Given the description of an element on the screen output the (x, y) to click on. 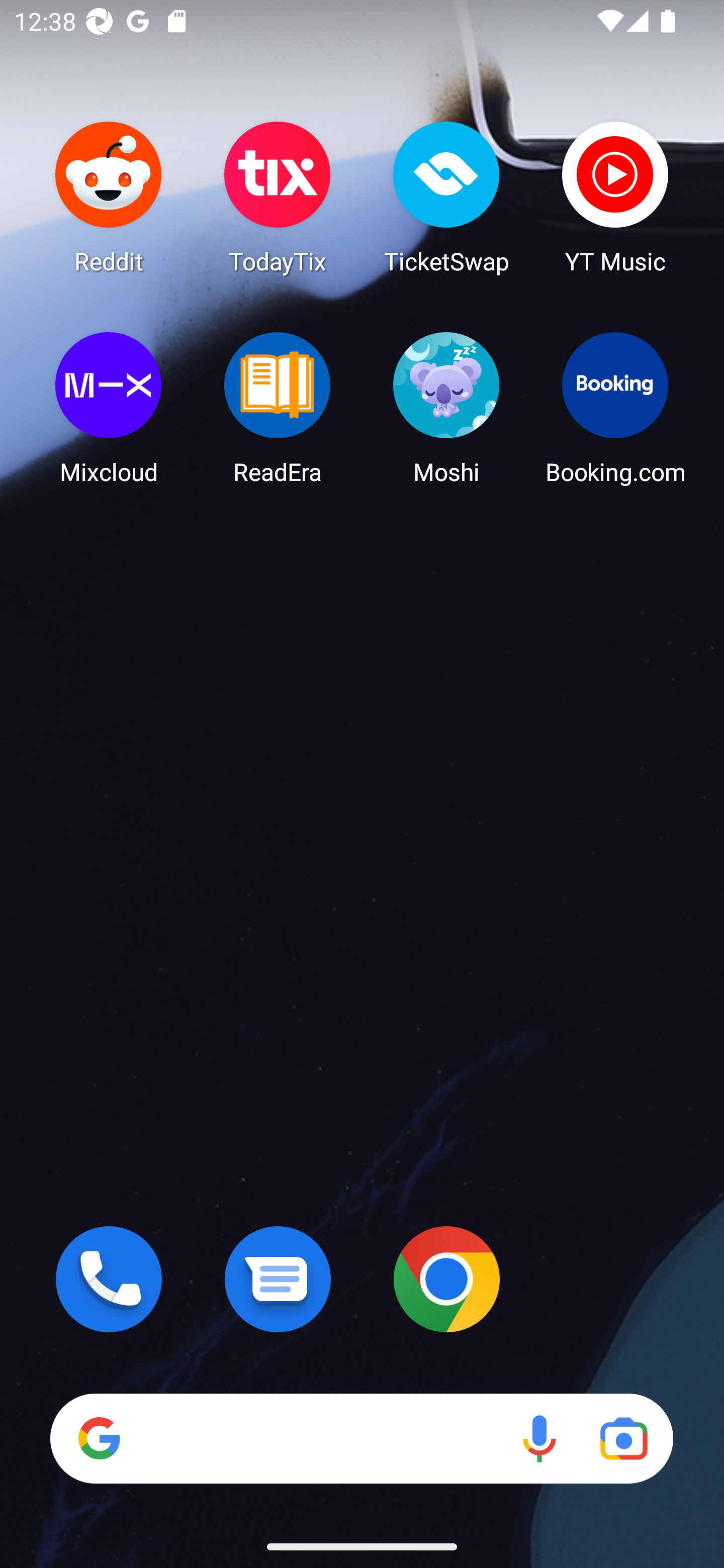
Reddit (108, 196)
TodayTix (277, 196)
TicketSwap (445, 196)
YT Music (615, 196)
Mixcloud (108, 407)
ReadEra (277, 407)
Moshi (445, 407)
Booking.com (615, 407)
Phone (108, 1279)
Messages (277, 1279)
Chrome (446, 1279)
Search Voice search Google Lens (361, 1438)
Voice search (539, 1438)
Google Lens (623, 1438)
